Given the description of an element on the screen output the (x, y) to click on. 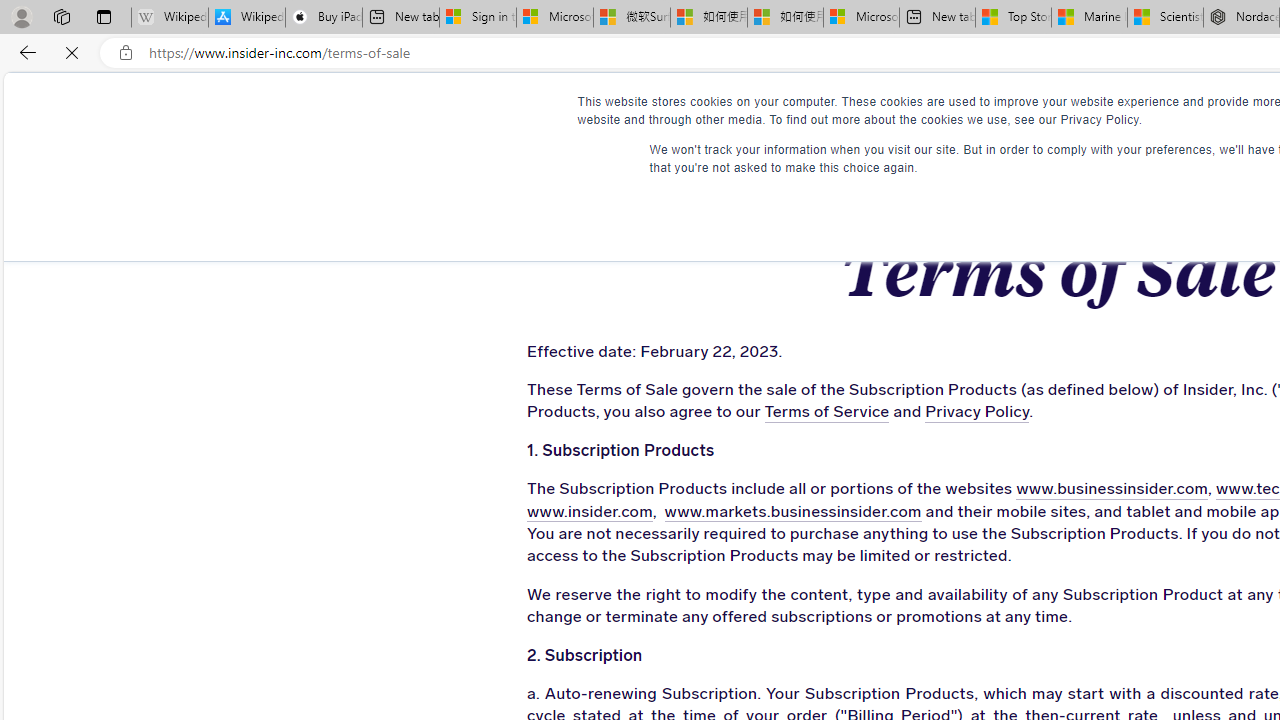
Insider Inc. (1056, 111)
Privacy Policy (837, 413)
WHAT WE DO (459, 110)
Insider Inc. (1057, 111)
Terms of Service (699, 413)
www.techinsider.io (1212, 489)
